Given the description of an element on the screen output the (x, y) to click on. 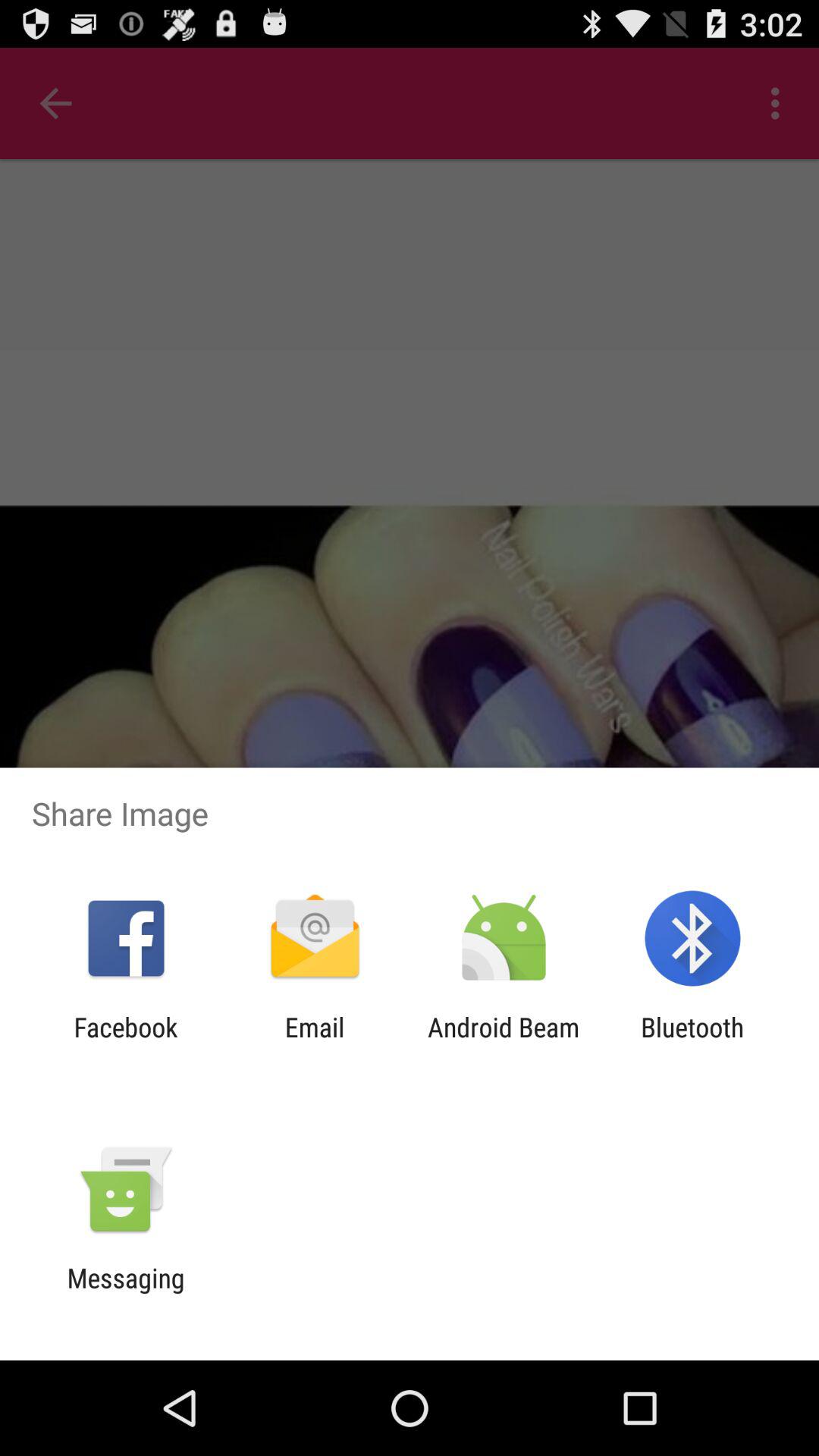
open the icon next to the android beam app (314, 1042)
